Given the description of an element on the screen output the (x, y) to click on. 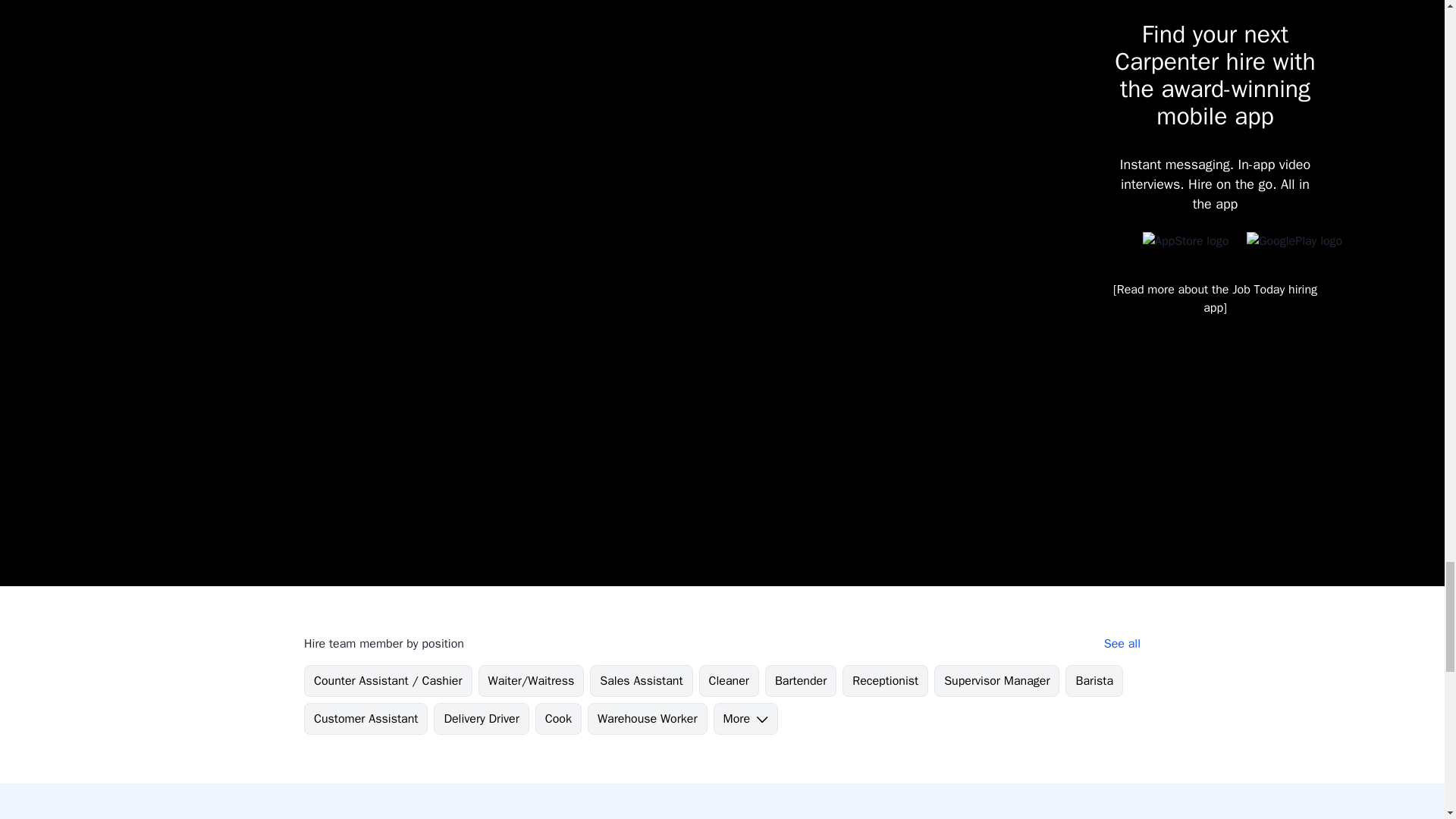
JOB TODAY iOS Application (1188, 246)
JOB TODAY Android Application (1297, 246)
